Given the description of an element on the screen output the (x, y) to click on. 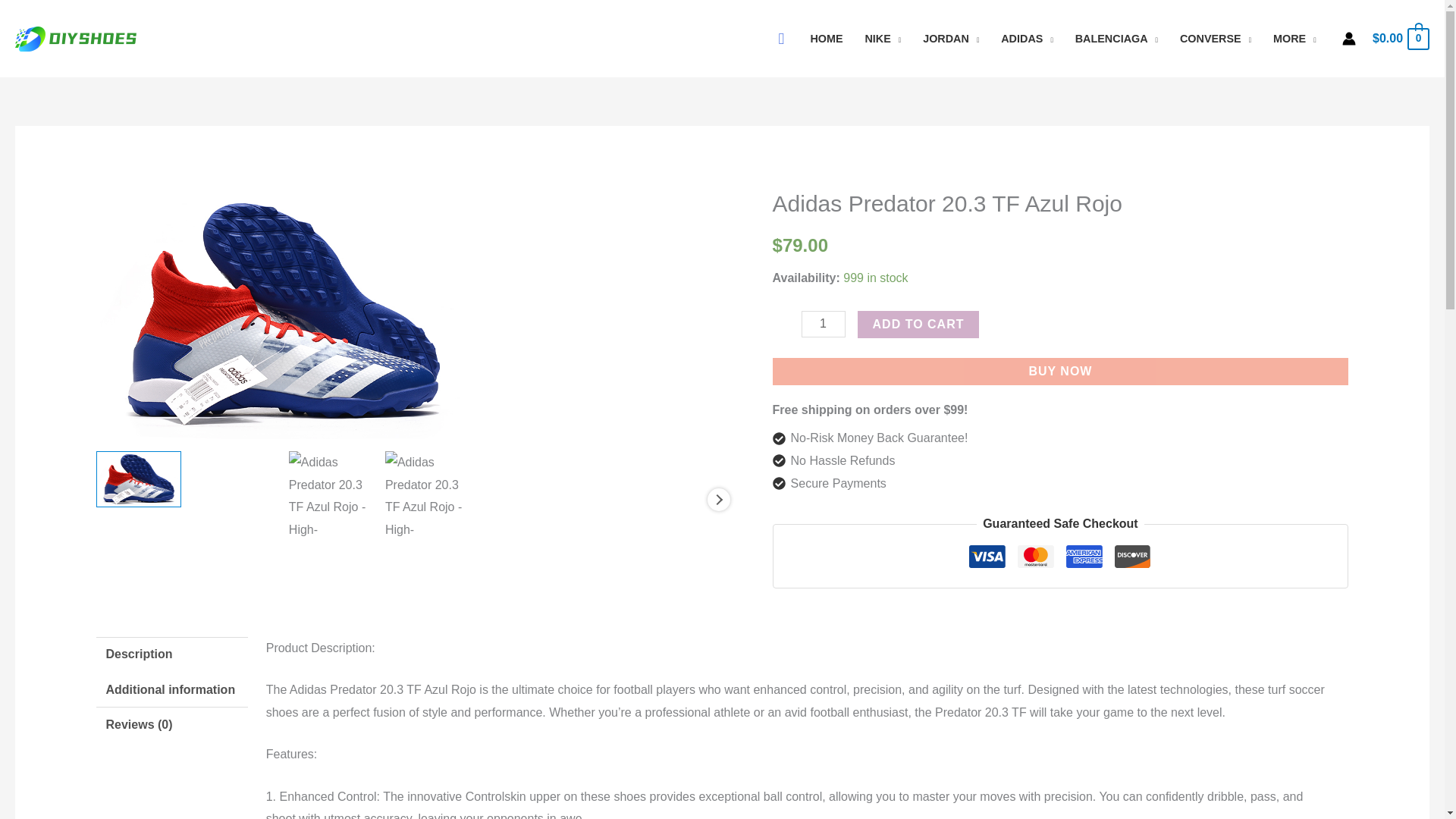
ADIDAS (1027, 38)
1 (823, 324)
JORDAN (951, 38)
